Given the description of an element on the screen output the (x, y) to click on. 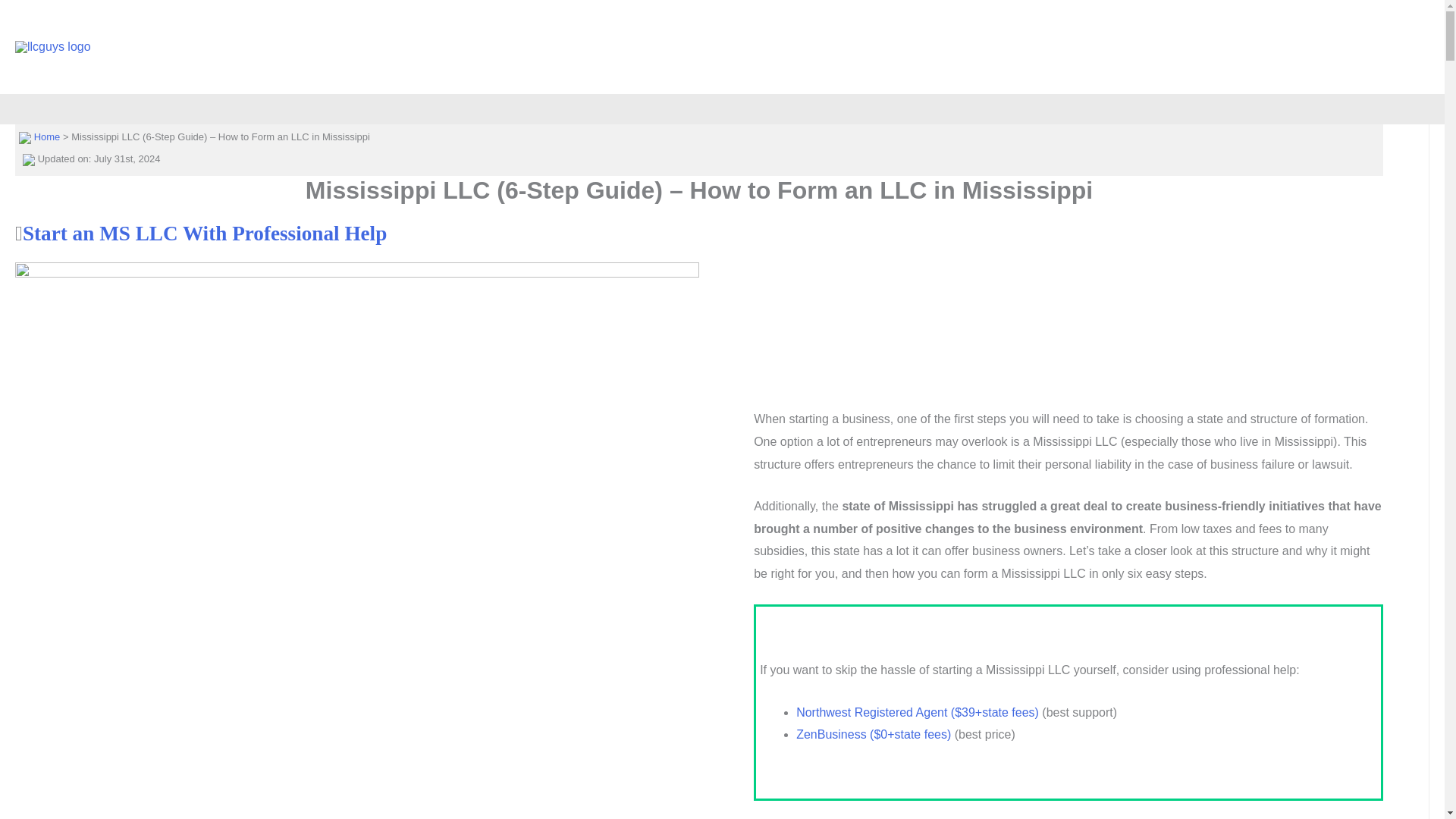
Home (47, 136)
The Best List (1239, 46)
Start an MS LLC With Professional Help (205, 232)
Search (18, 17)
Go to LLC Guys. (47, 136)
Comparisons (1018, 46)
How to Start an LLC (1129, 46)
Reviews (933, 46)
Knowledgebase (1343, 46)
